Given the description of an element on the screen output the (x, y) to click on. 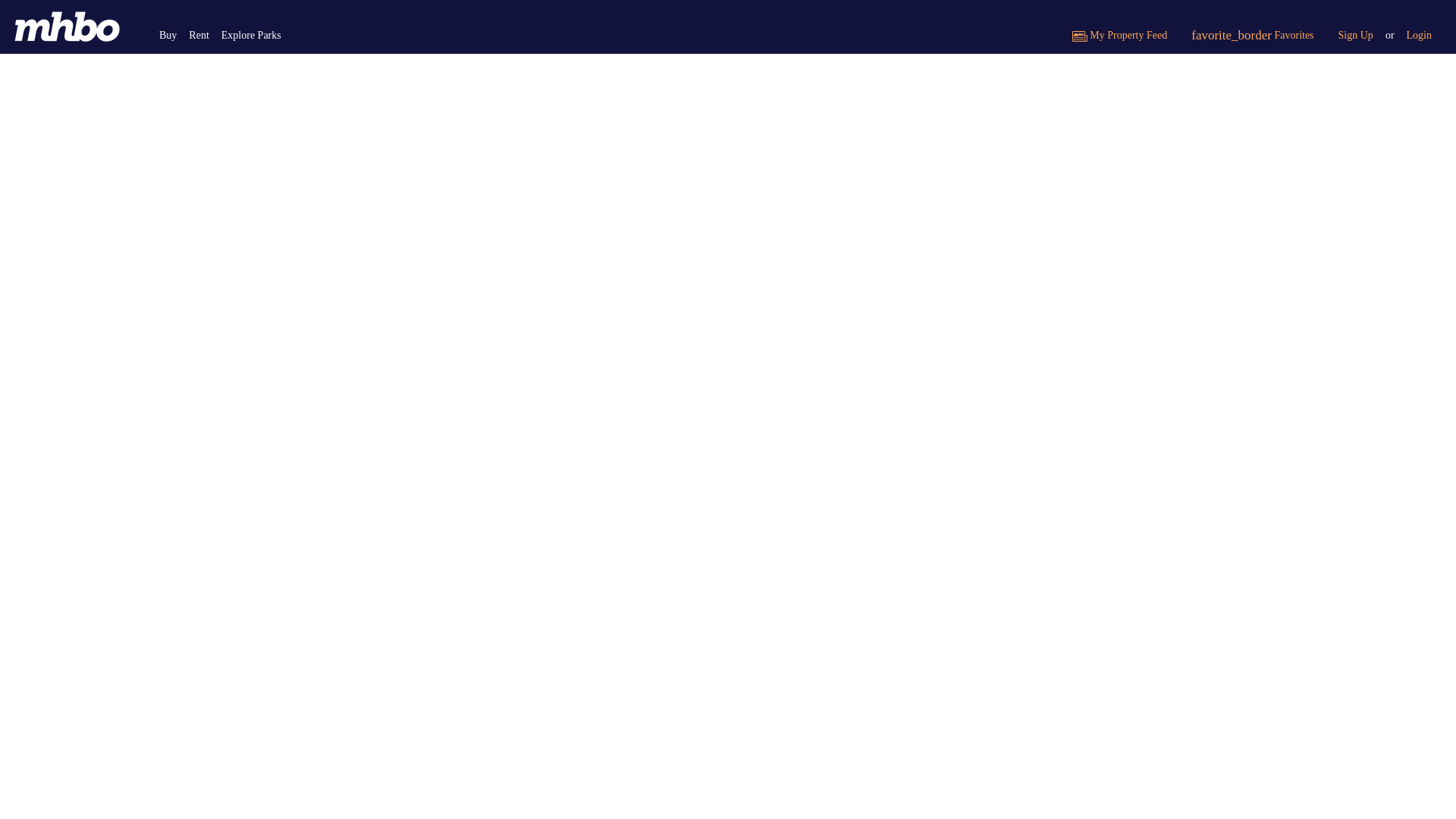
My Property Feed (1119, 35)
Sign Up (1356, 35)
Login (1419, 35)
Explore Parks (250, 35)
Buy (167, 35)
Rent (198, 35)
